Given the description of an element on the screen output the (x, y) to click on. 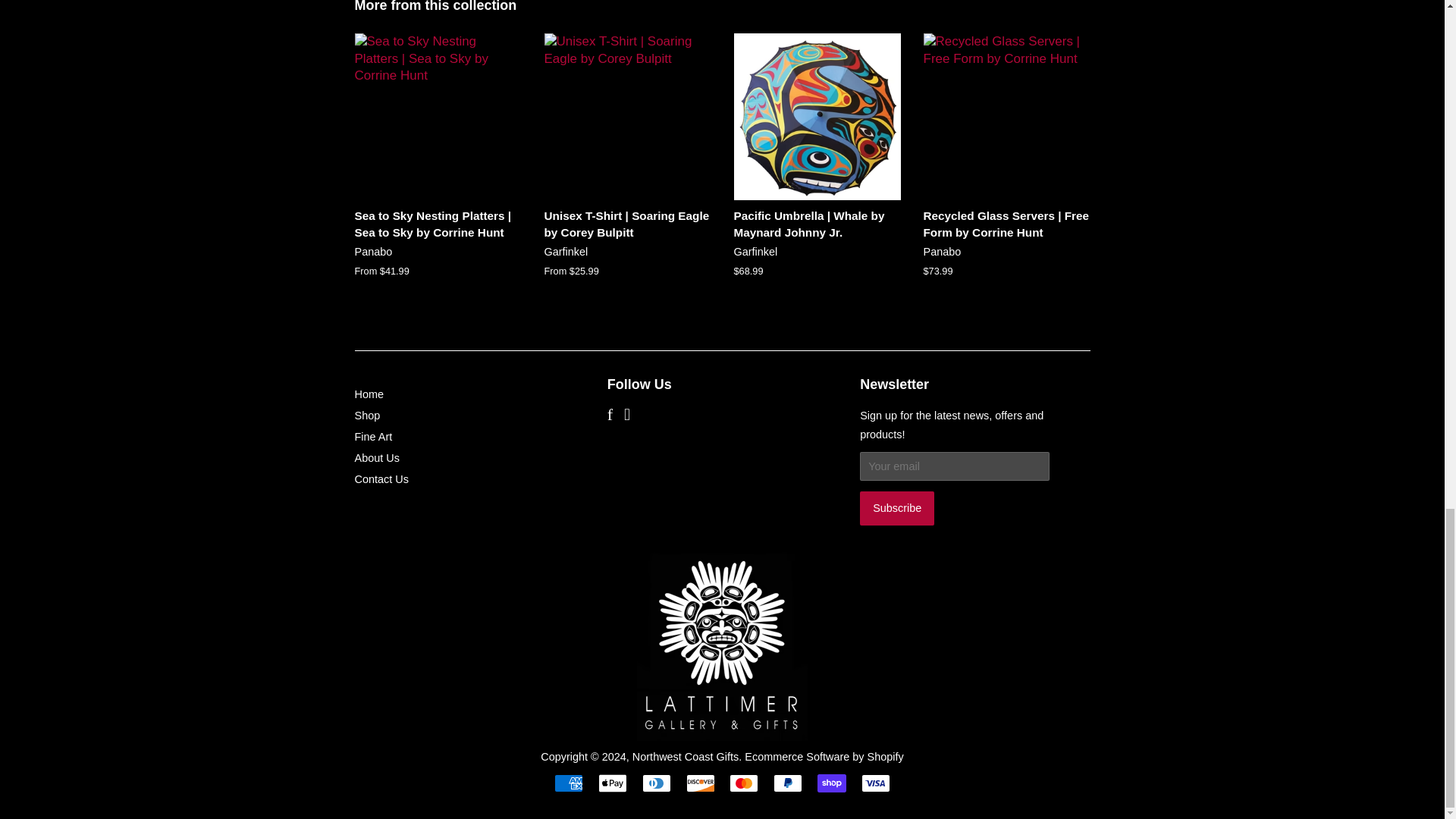
Diners Club (656, 782)
PayPal (787, 782)
Subscribe (897, 507)
Shop Pay (830, 782)
Mastercard (743, 782)
Discover (699, 782)
Apple Pay (612, 782)
Visa (875, 782)
American Express (568, 782)
